Given the description of an element on the screen output the (x, y) to click on. 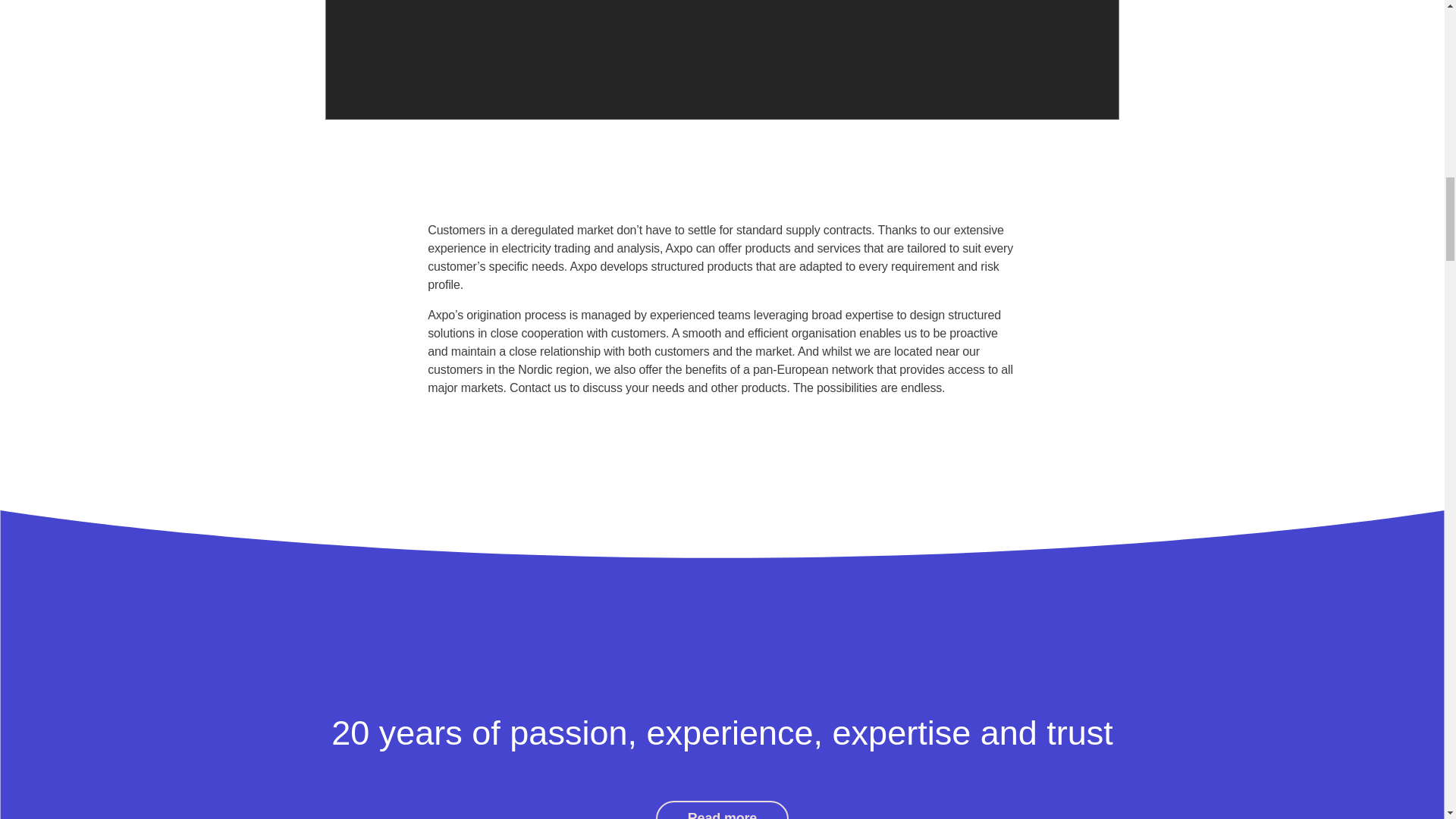
Read more (722, 809)
